Given the description of an element on the screen output the (x, y) to click on. 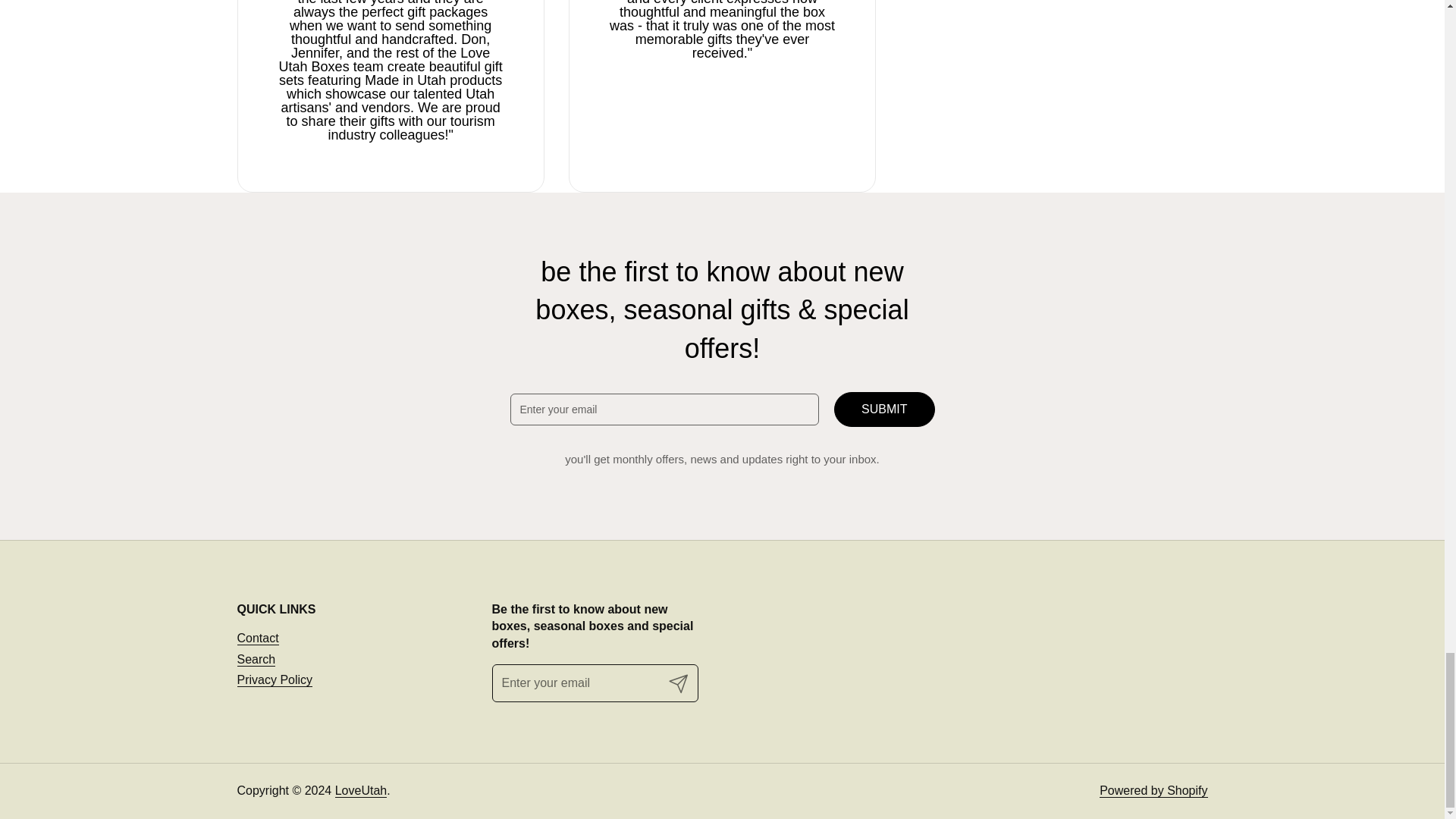
Contact (256, 638)
Search (255, 659)
SUBMIT (884, 409)
